Given the description of an element on the screen output the (x, y) to click on. 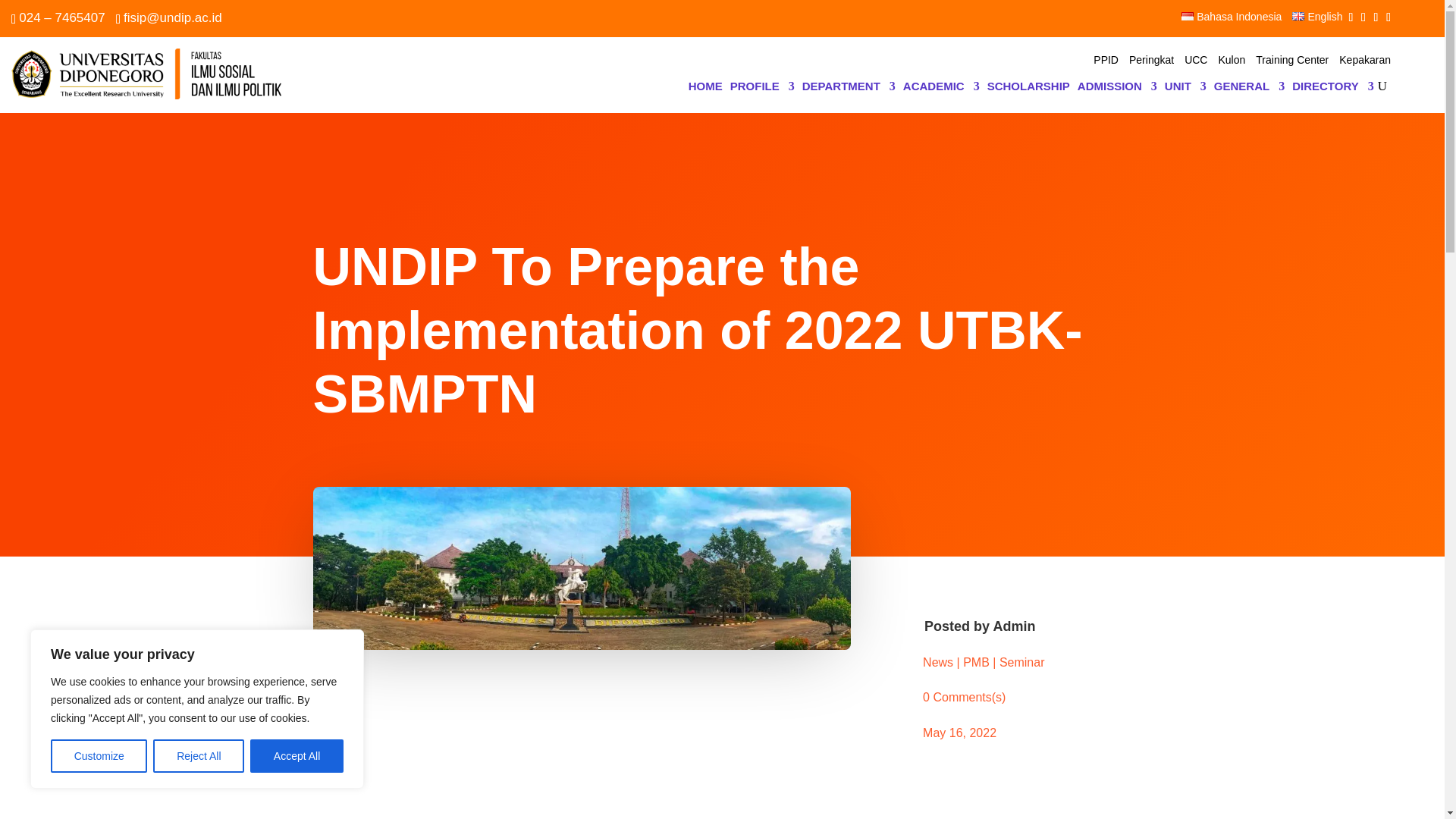
PPID (1105, 62)
Kepakaran (1364, 62)
Bahasa Indonesia (1230, 19)
UCC (1196, 62)
PROFILE (762, 89)
Accept All (296, 756)
Reject All (198, 756)
Peringkat (1151, 62)
Customize (98, 756)
Kulon (1230, 62)
English (1317, 19)
Training Center (1291, 62)
HOME (705, 89)
